Given the description of an element on the screen output the (x, y) to click on. 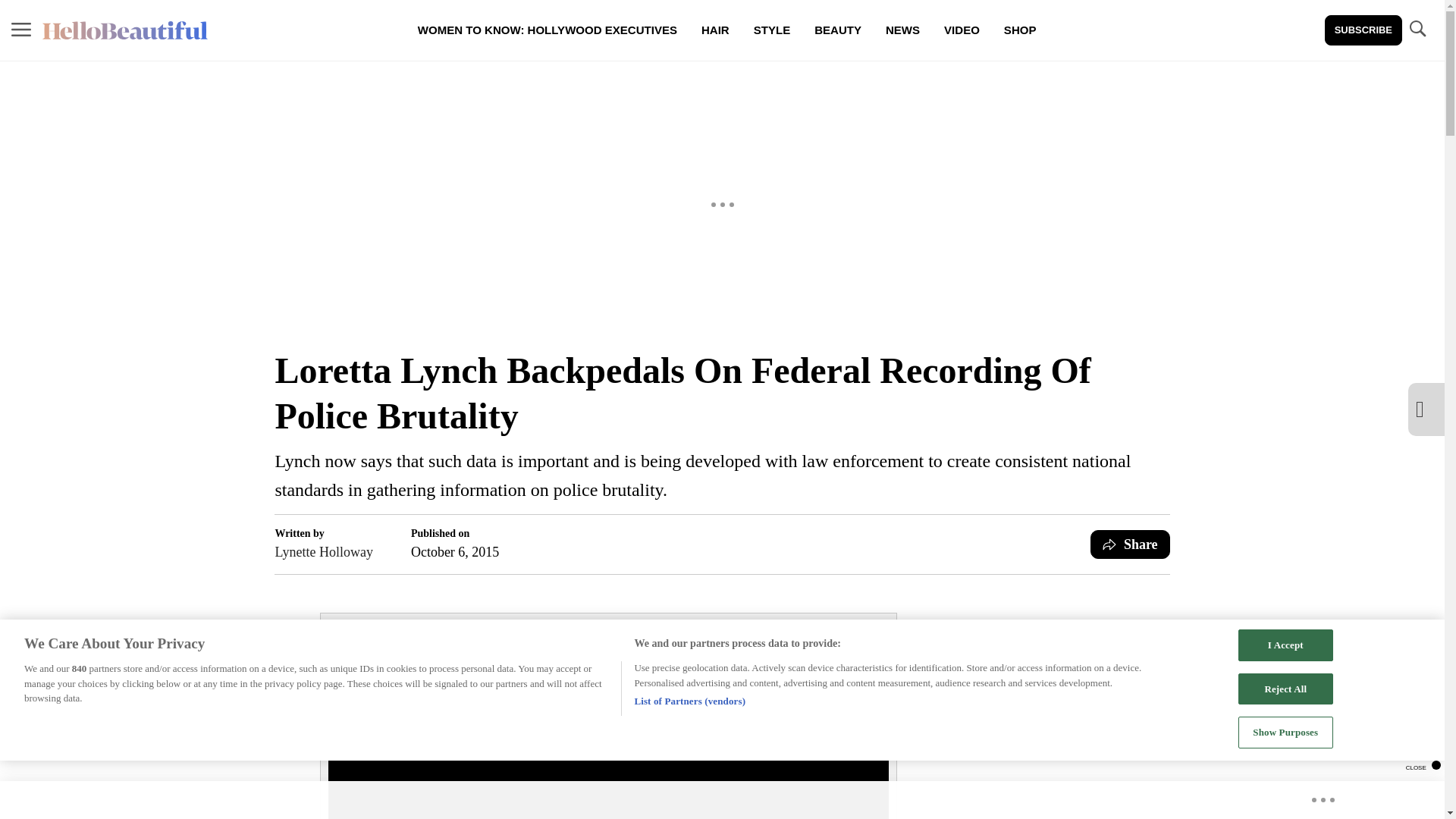
WOMEN TO KNOW: HOLLYWOOD EXECUTIVES (547, 30)
TOGGLE SEARCH (1417, 30)
SUBSCRIBE (1363, 30)
TOGGLE SEARCH (1417, 28)
MENU (20, 30)
MENU (20, 29)
VIDEO (961, 30)
Lynette Holloway (323, 551)
NEWS (902, 30)
Share (1130, 543)
SHOP (1019, 30)
BEAUTY (837, 30)
STYLE (771, 30)
HAIR (714, 30)
